Given the description of an element on the screen output the (x, y) to click on. 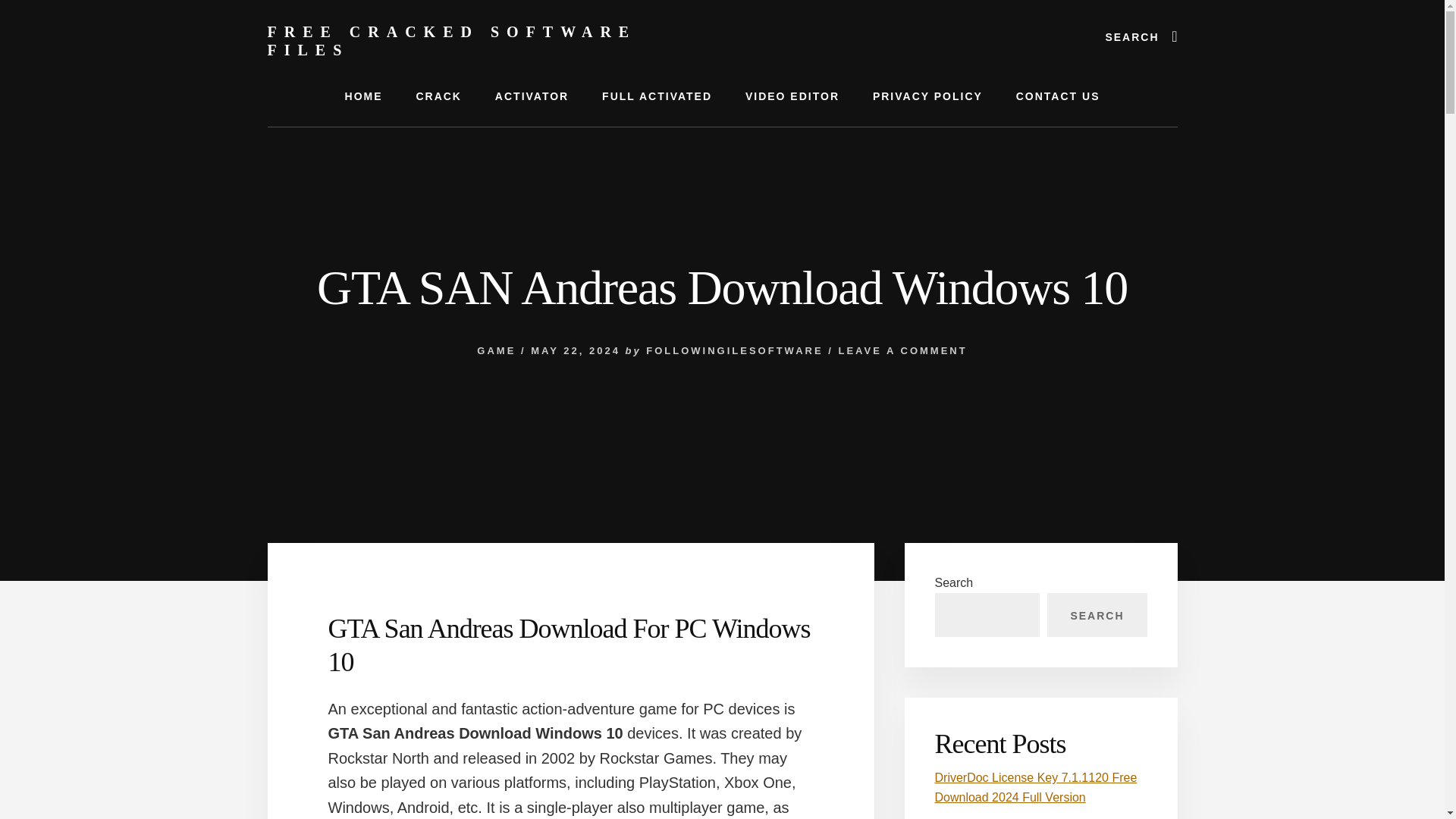
PRIVACY POLICY (927, 96)
FULL ACTIVATED (656, 96)
FOLLOWINGILESOFTWARE (734, 350)
CRACK (438, 96)
HOME (363, 96)
LEAVE A COMMENT (902, 350)
FREE CRACKED SOFTWARE FILES (451, 40)
ACTIVATOR (531, 96)
GAME (496, 350)
VIDEO EDITOR (792, 96)
CONTACT US (1058, 96)
